Given the description of an element on the screen output the (x, y) to click on. 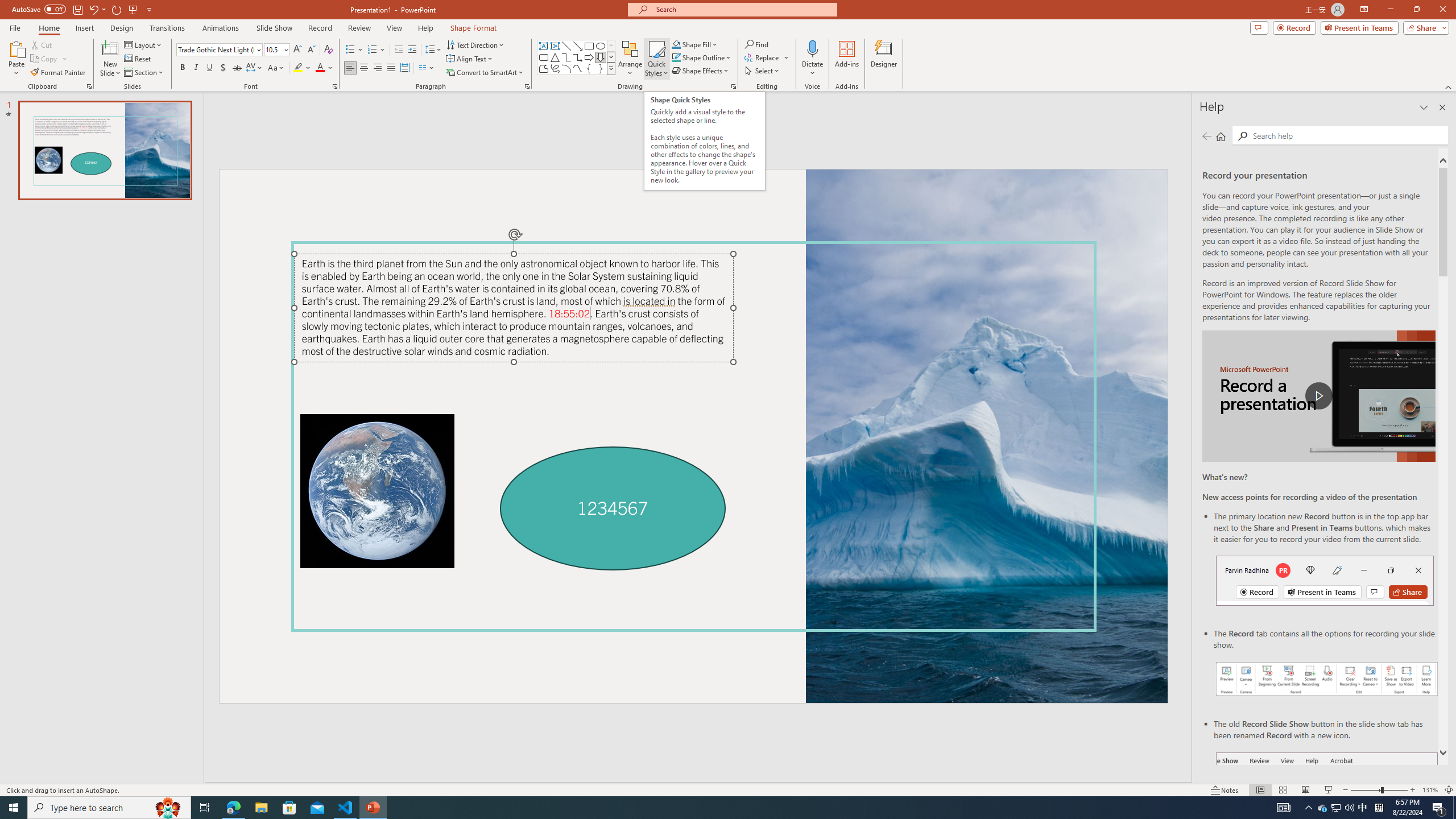
Center (363, 67)
Arrow: Down (600, 57)
Office Clipboard... (88, 85)
Italic (195, 67)
Bold (182, 67)
